Given the description of an element on the screen output the (x, y) to click on. 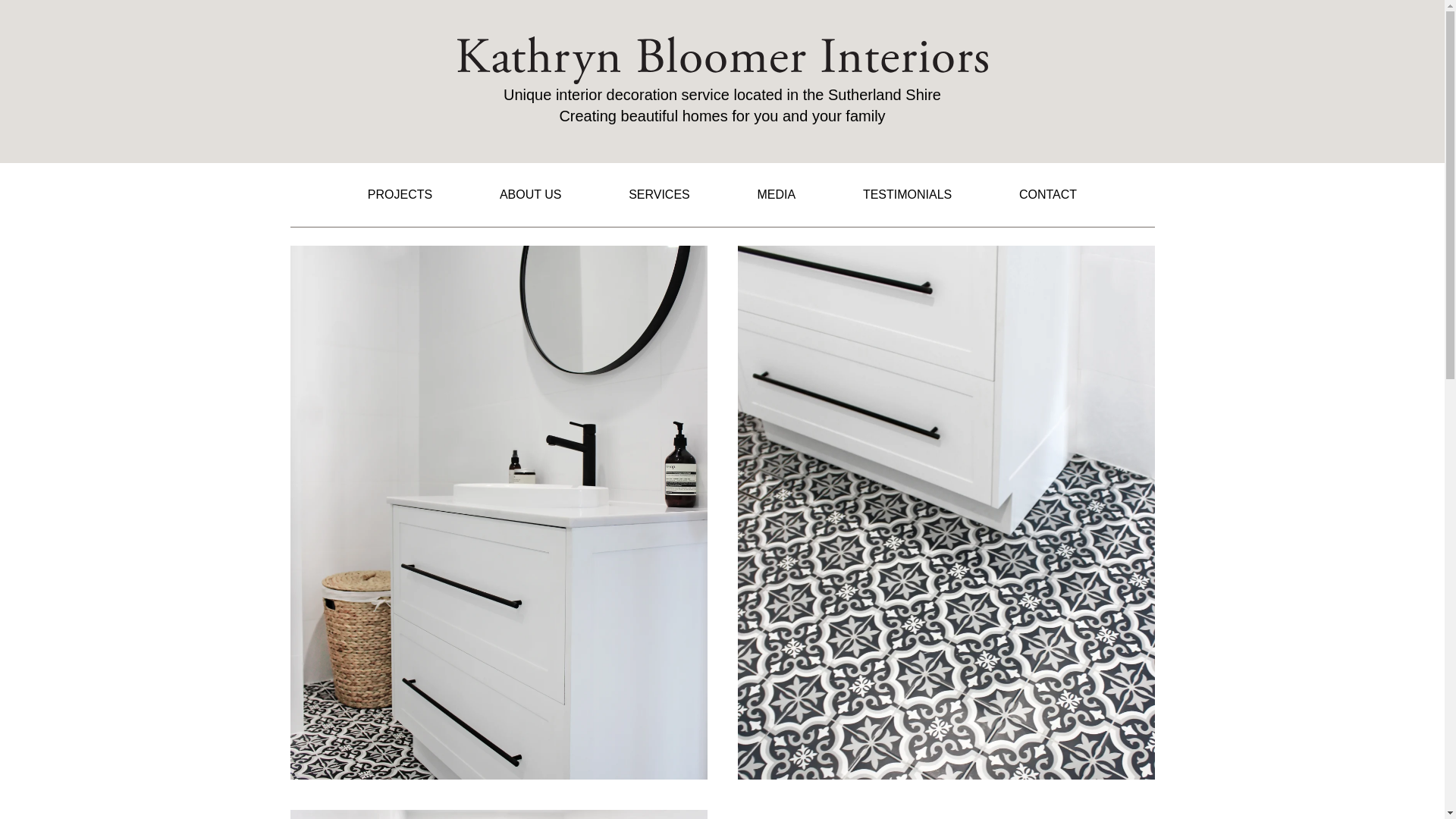
CONTACT Element type: text (1047, 194)
ABOUT US Element type: text (530, 194)
MEDIA Element type: text (775, 194)
SERVICES Element type: text (659, 194)
PROJECTS Element type: text (399, 194)
TESTIMONIALS Element type: text (906, 194)
